Given the description of an element on the screen output the (x, y) to click on. 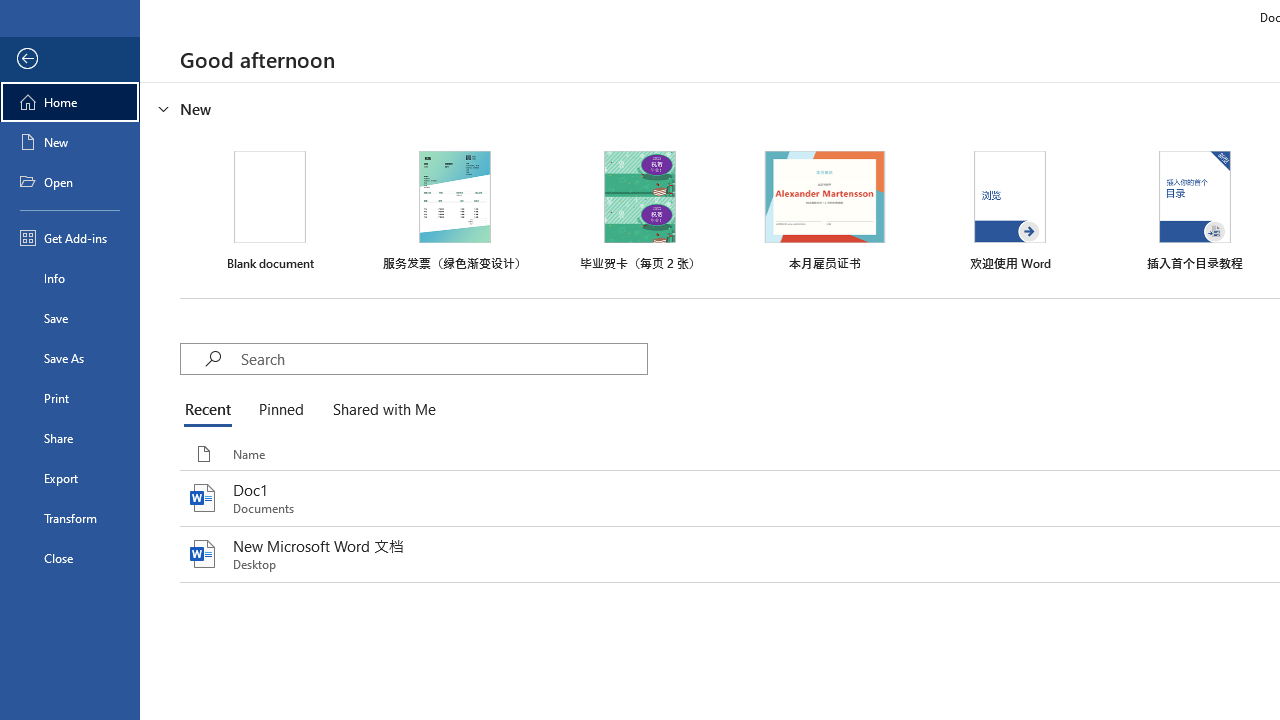
Transform (69, 517)
Info (69, 277)
Export (69, 477)
Share (69, 437)
Hide or show region (164, 108)
New (69, 141)
Search (443, 358)
System (10, 11)
Save (69, 317)
Blank document (269, 211)
